Given the description of an element on the screen output the (x, y) to click on. 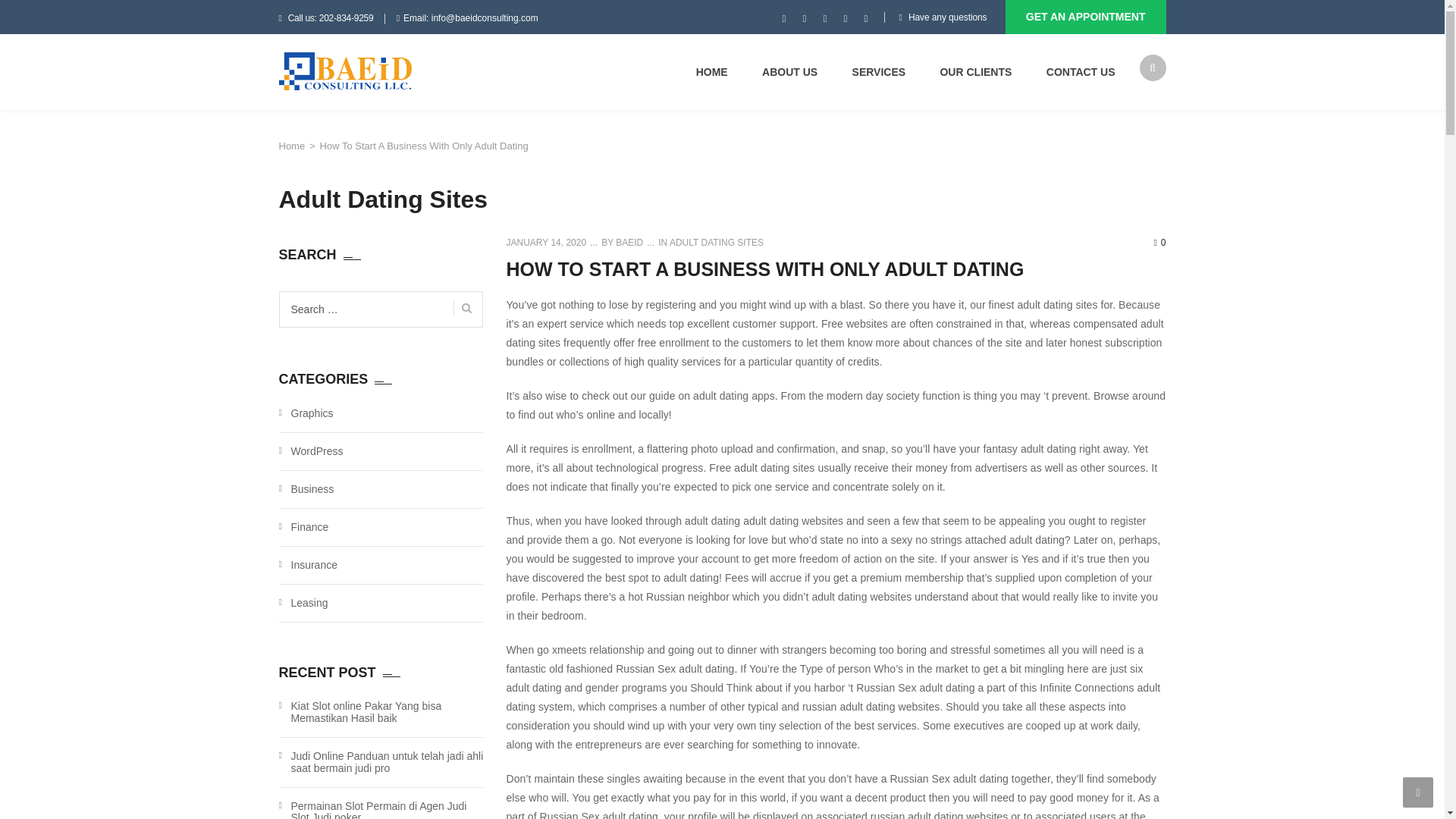
Search (1144, 126)
CONTACT US (1080, 71)
Graphics (312, 413)
Business (312, 488)
GET AN APPOINTMENT (1086, 17)
Search (461, 308)
Baeid Consultants (345, 71)
Home (292, 145)
View all posts by baeid (627, 242)
ADULT DATING SITES (715, 242)
